Given the description of an element on the screen output the (x, y) to click on. 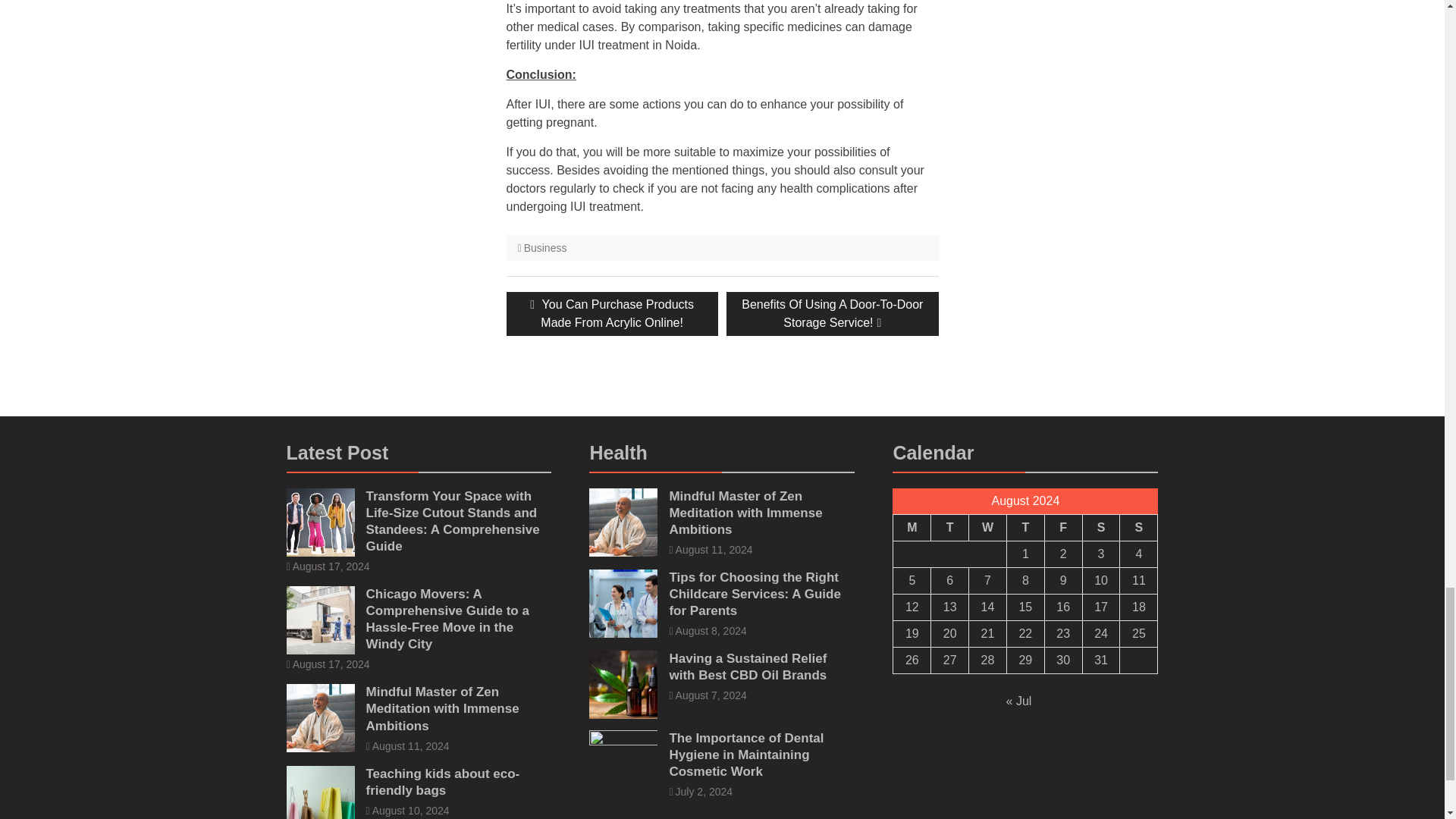
Saturday (1100, 527)
Friday (831, 313)
Tuesday (1062, 527)
Monday (950, 527)
Thursday (912, 527)
Wednesday (1024, 527)
Business (988, 527)
Sunday (545, 247)
